Given the description of an element on the screen output the (x, y) to click on. 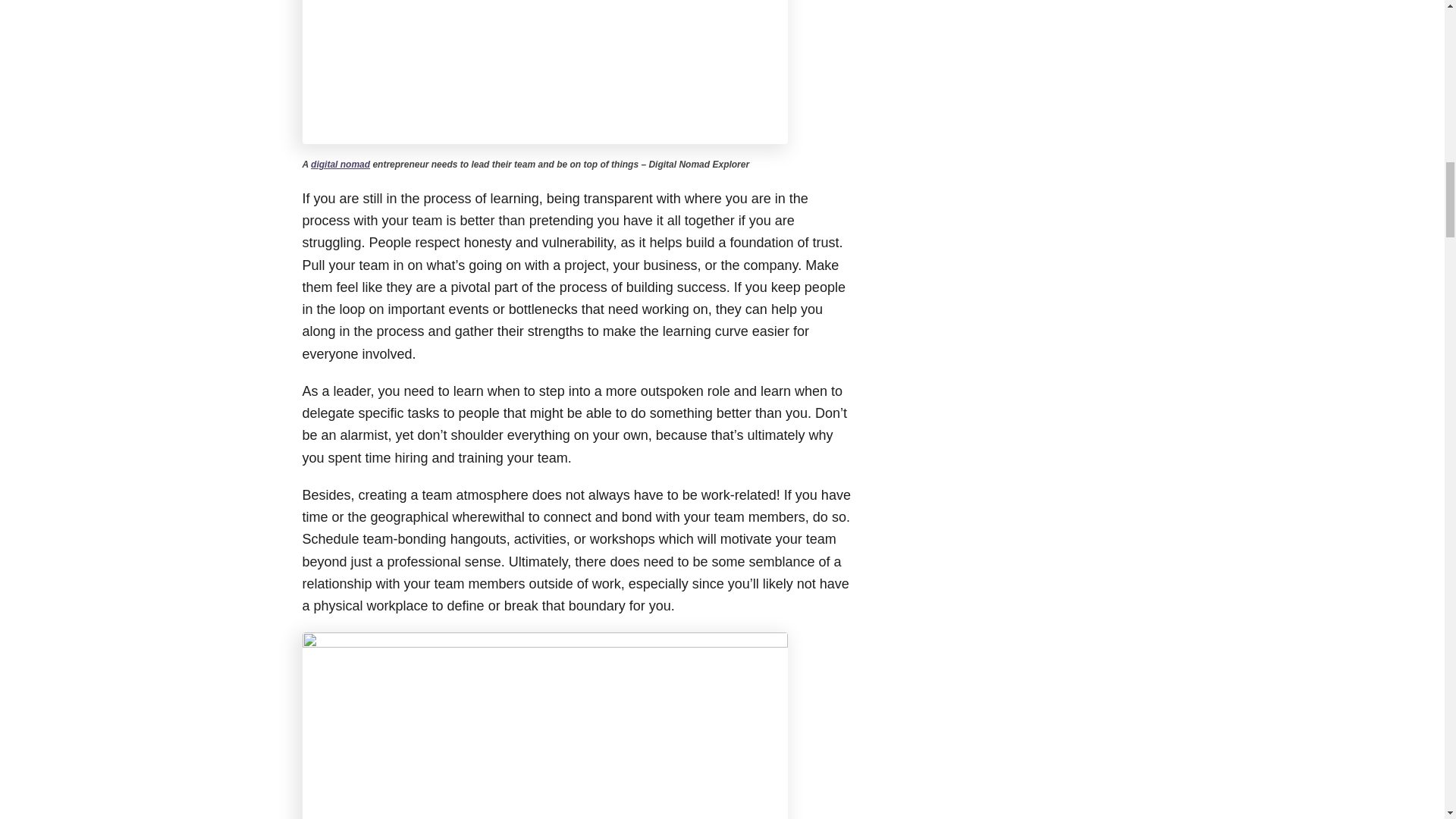
digital nomad (340, 163)
digital nomad (340, 163)
